Given the description of an element on the screen output the (x, y) to click on. 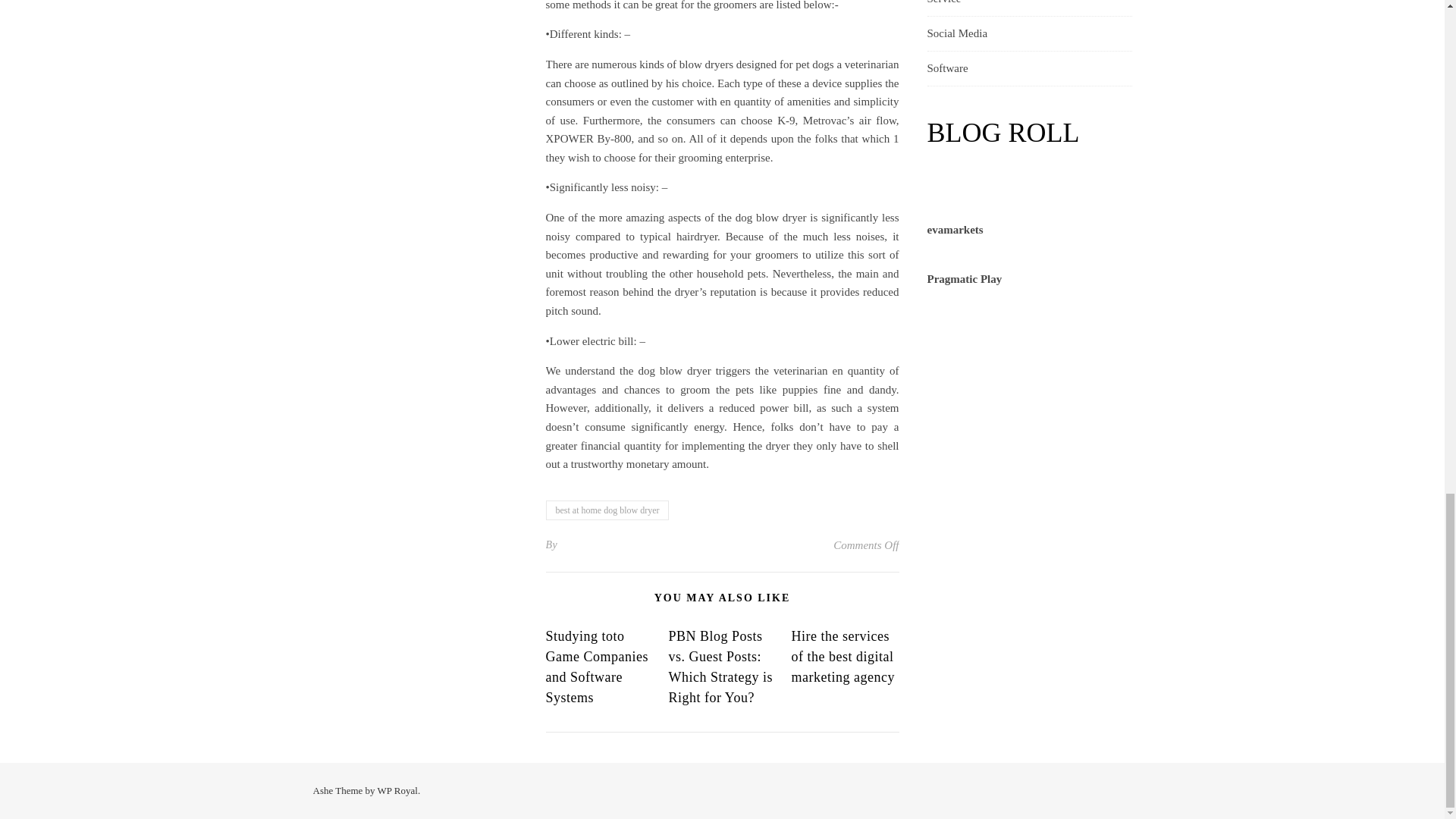
Studying toto Game Companies and Software Systems (596, 666)
best at home dog blow dryer (607, 510)
Hire the services of the best digital marketing agency (841, 656)
